Given the description of an element on the screen output the (x, y) to click on. 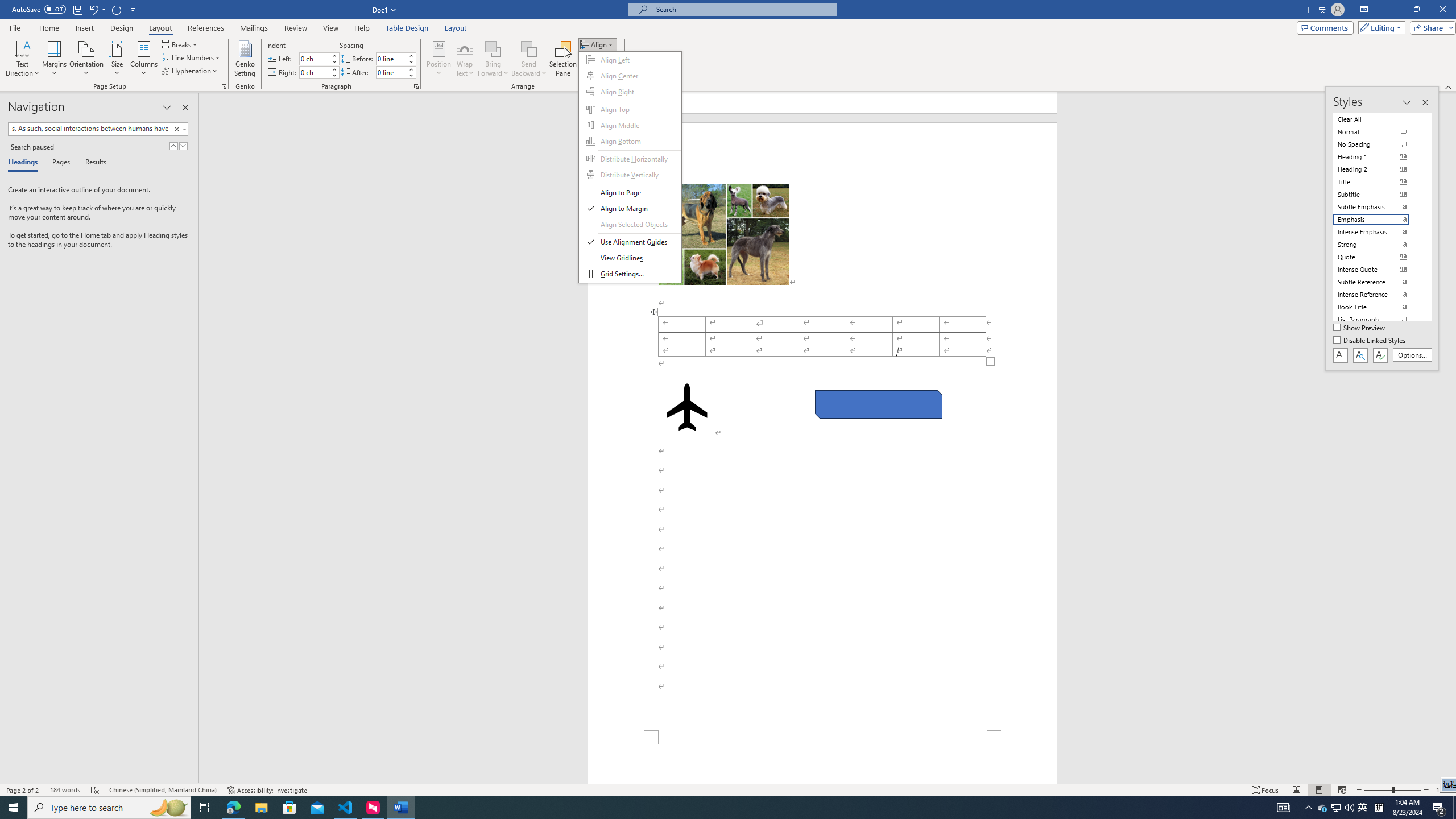
Strong (1377, 244)
Position (438, 58)
Undo Style (96, 9)
Undo Style (1362, 807)
Word Count 184 words (92, 9)
